Given the description of an element on the screen output the (x, y) to click on. 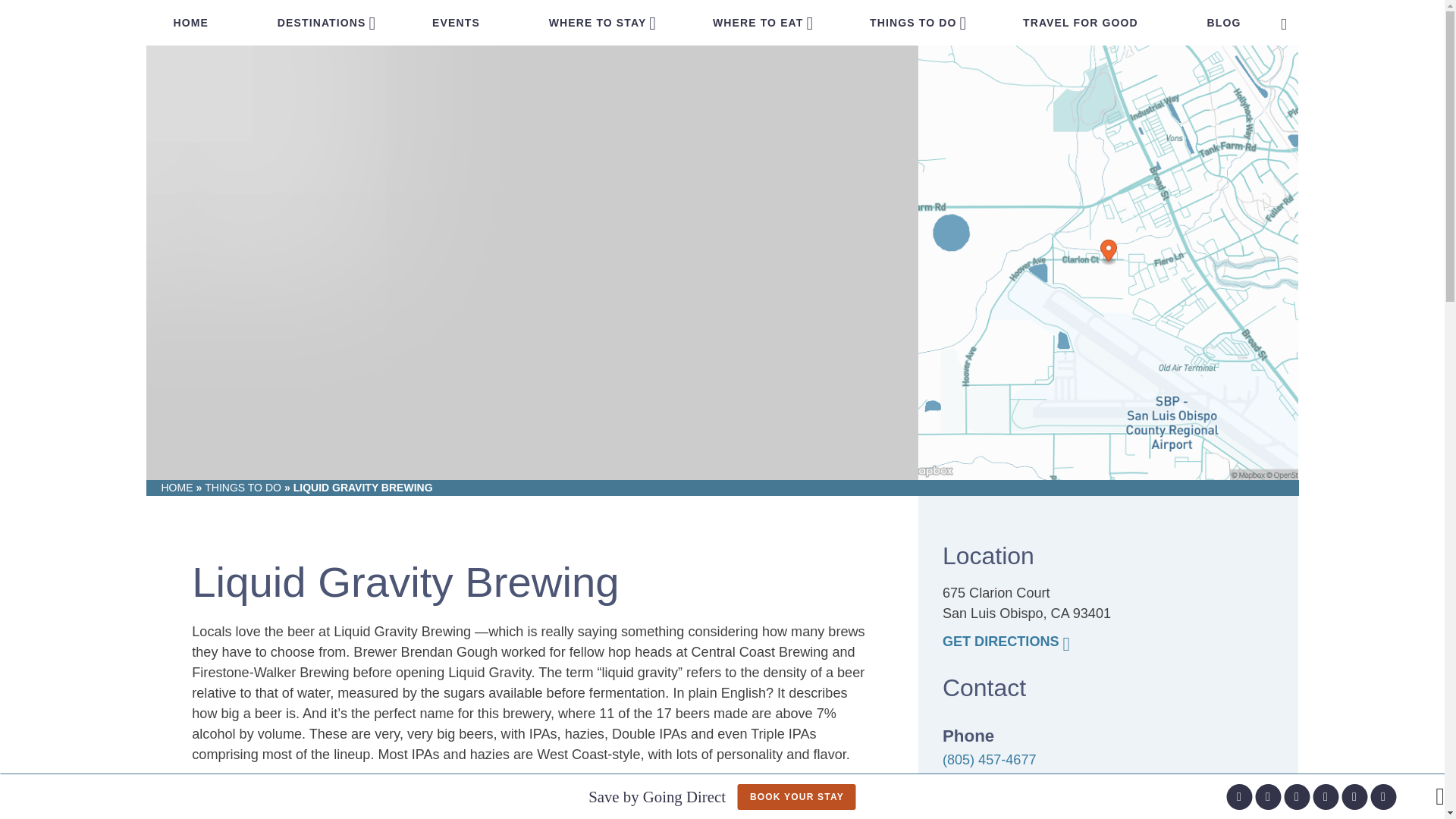
DESTINATIONS (321, 22)
WHERE TO EAT (757, 22)
WHERE TO STAY (598, 22)
HOME (189, 22)
THINGS TO DO (912, 22)
EVENTS (455, 22)
